Given the description of an element on the screen output the (x, y) to click on. 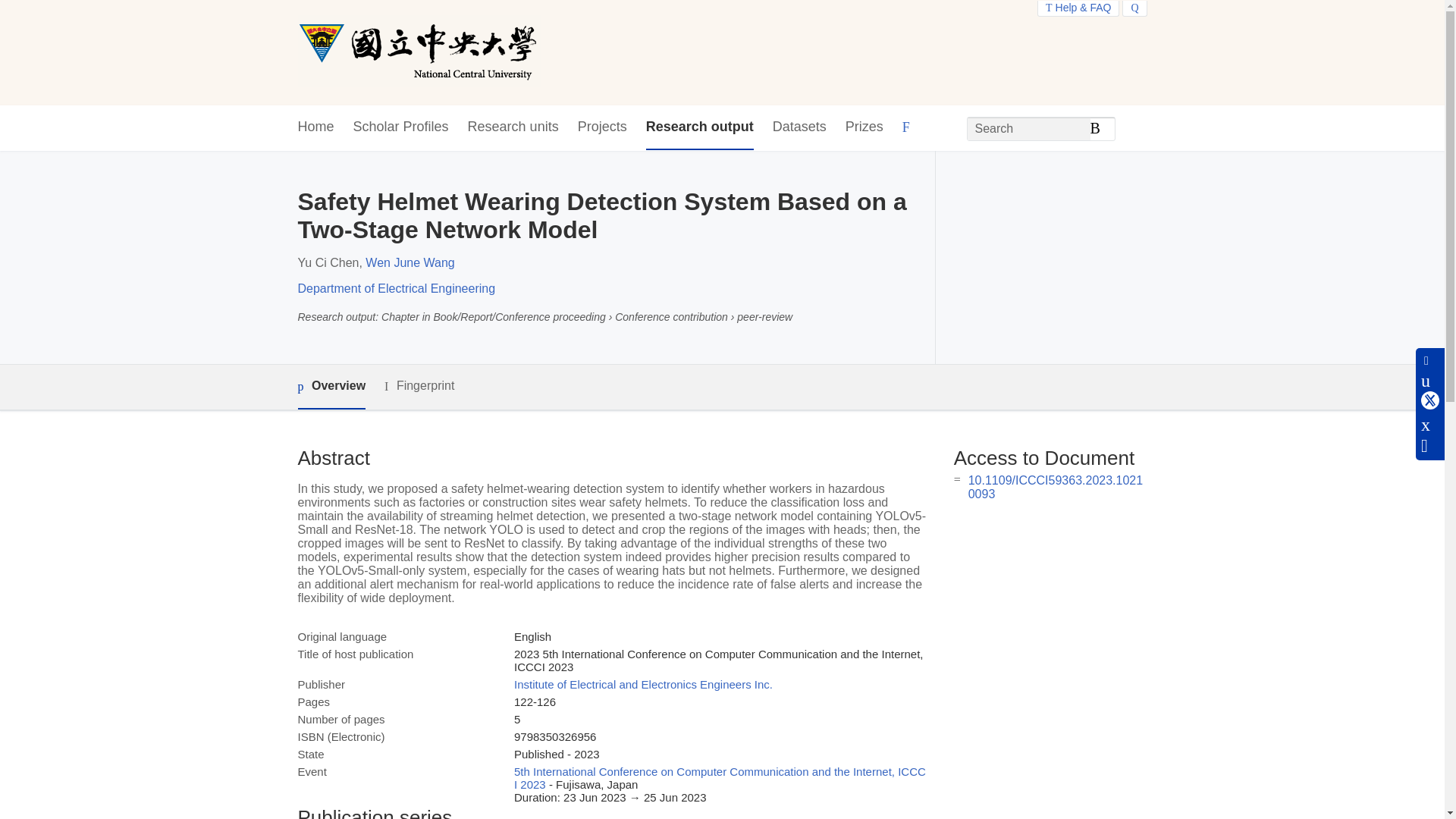
Research units (513, 127)
Wen June Wang (409, 262)
Datasets (800, 127)
Fingerprint (419, 385)
Department of Electrical Engineering (396, 287)
Scholar Profiles (400, 127)
National Central University Home (418, 52)
Projects (602, 127)
